Given the description of an element on the screen output the (x, y) to click on. 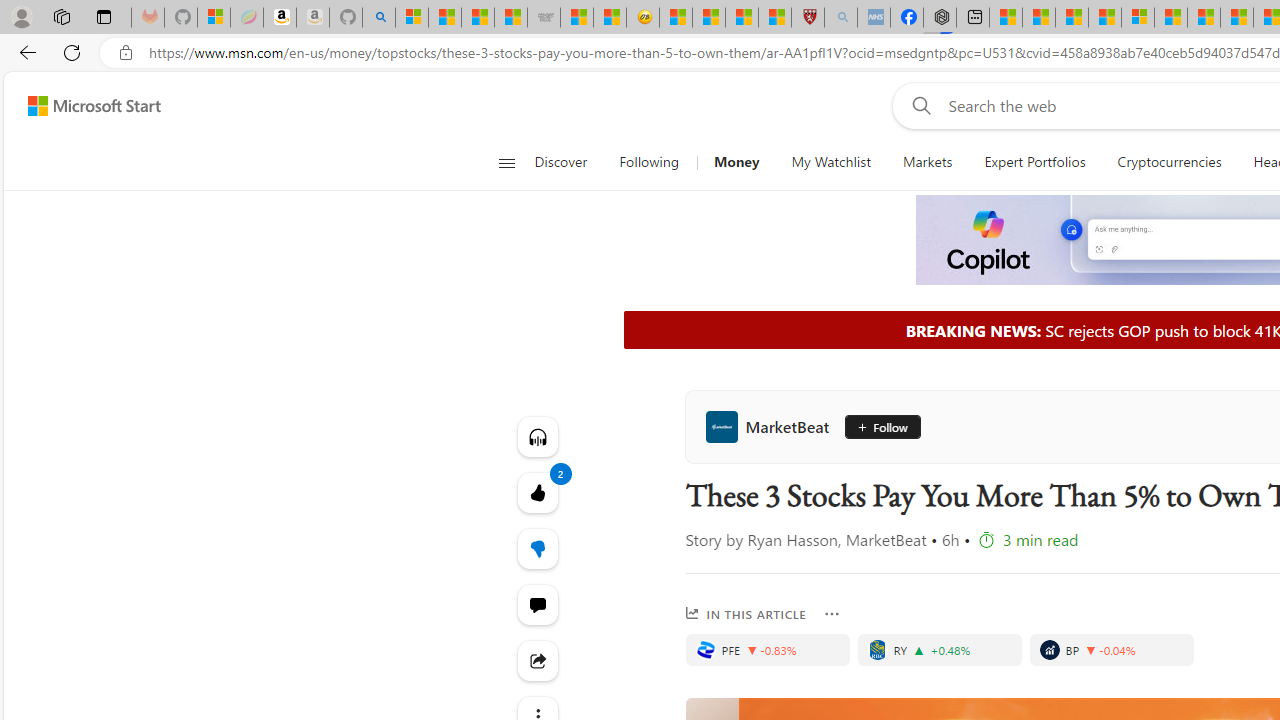
Cryptocurrencies (1168, 162)
MarketBeat (771, 426)
BP, BP P.L.C.. Price is 33.51. Decreased by -0.04% (1111, 650)
